Given the description of an element on the screen output the (x, y) to click on. 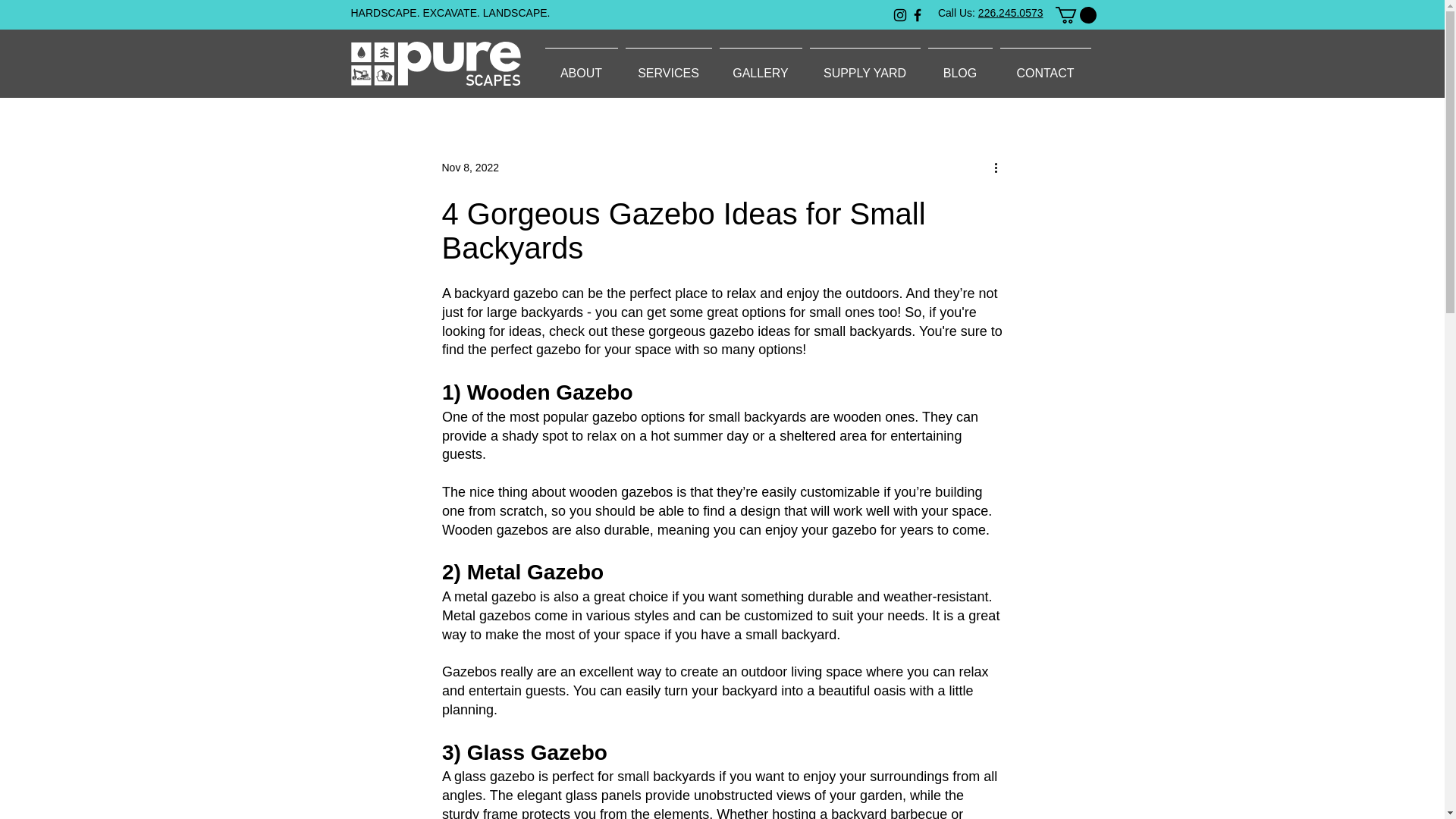
Nov 8, 2022 (470, 167)
SERVICES (668, 66)
ABOUT (581, 66)
CONTACT (1044, 66)
BLOG (959, 66)
GALLERY (761, 66)
SUPPLY YARD (864, 66)
226.245.0573 (1010, 12)
